Given the description of an element on the screen output the (x, y) to click on. 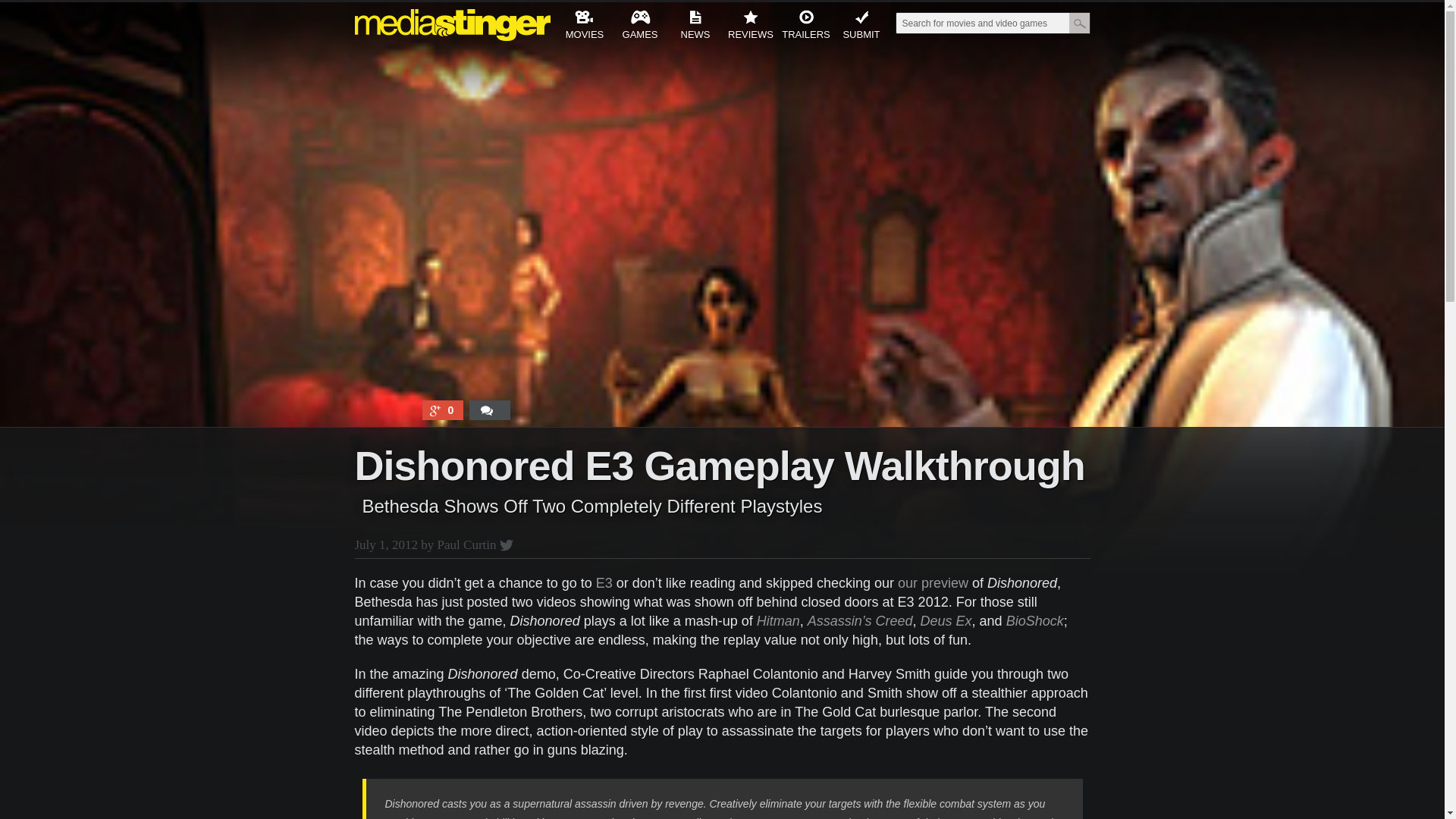
MOVIES (583, 26)
Search for movies and video games (981, 23)
